Given the description of an element on the screen output the (x, y) to click on. 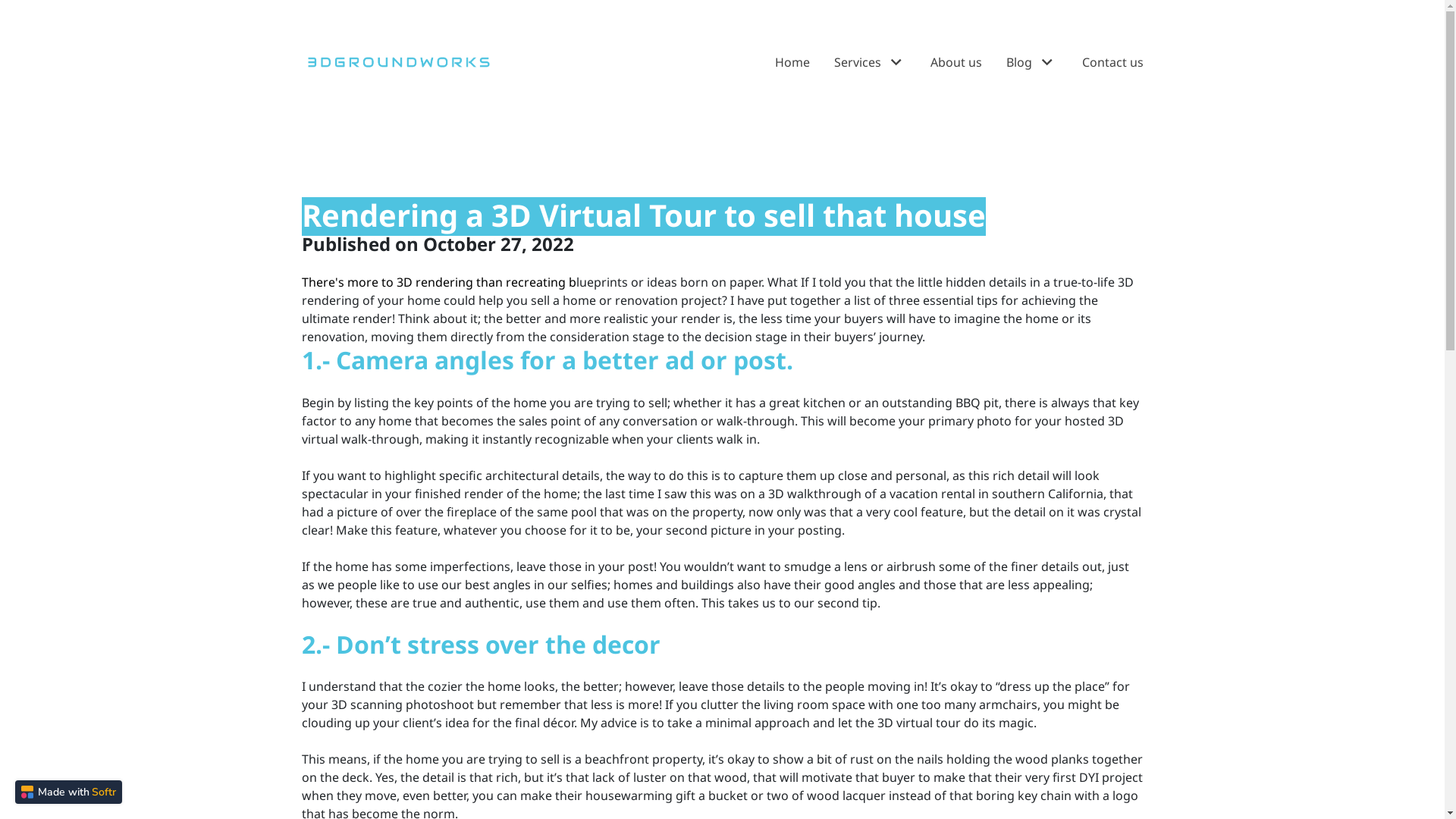
Services Element type: text (870, 61)
Contact us Element type: text (1111, 62)
Made with
Softr Element type: text (68, 791)
Home Element type: text (792, 62)
About us Element type: text (956, 62)
Blog Element type: text (1031, 61)
